Given the description of an element on the screen output the (x, y) to click on. 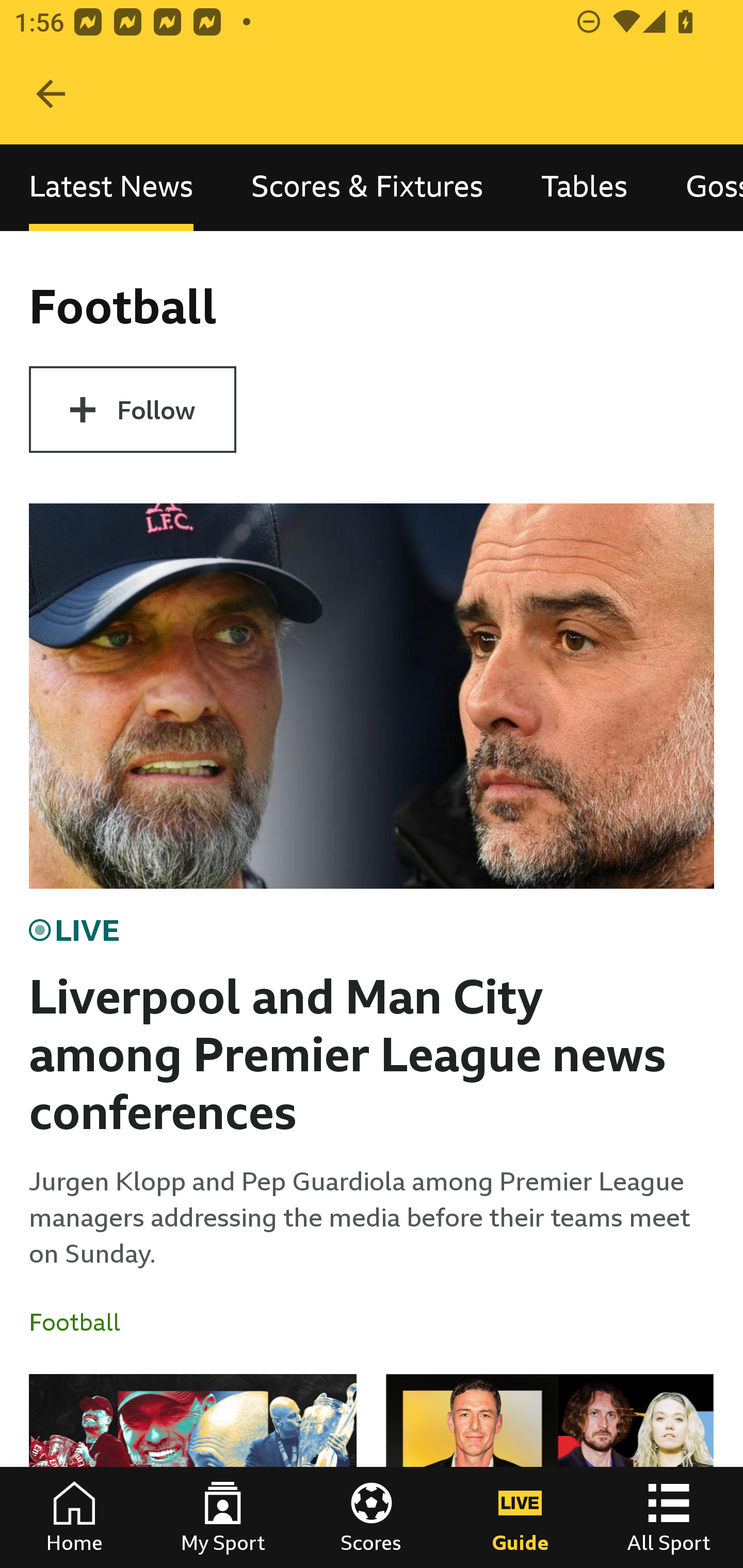
Navigate up (50, 93)
Latest News, selected Latest News (111, 187)
Scores & Fixtures (367, 187)
Tables (584, 187)
Follow Football Follow (132, 409)
Home (74, 1517)
My Sport (222, 1517)
Scores (371, 1517)
All Sport (668, 1517)
